Given the description of an element on the screen output the (x, y) to click on. 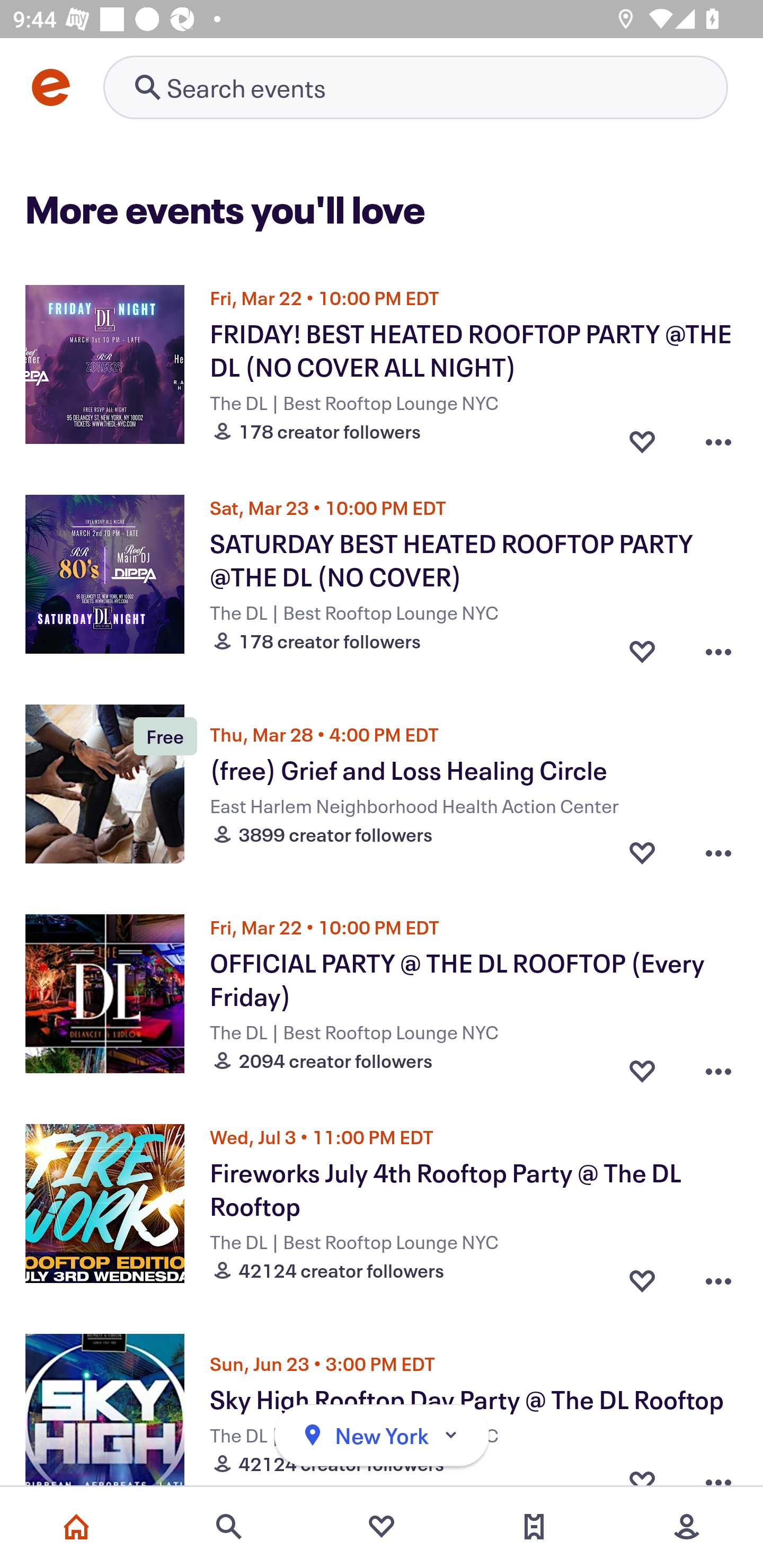
Retry's image Search events (415, 86)
Favorite button (642, 436)
Overflow menu button (718, 436)
Favorite button (642, 646)
Overflow menu button (718, 646)
Favorite button (642, 852)
Overflow menu button (718, 852)
Favorite button (642, 1066)
Overflow menu button (718, 1066)
Favorite button (642, 1275)
Overflow menu button (718, 1275)
New York (381, 1435)
Home (76, 1526)
Search events (228, 1526)
Favorites (381, 1526)
Tickets (533, 1526)
More (686, 1526)
